Given the description of an element on the screen output the (x, y) to click on. 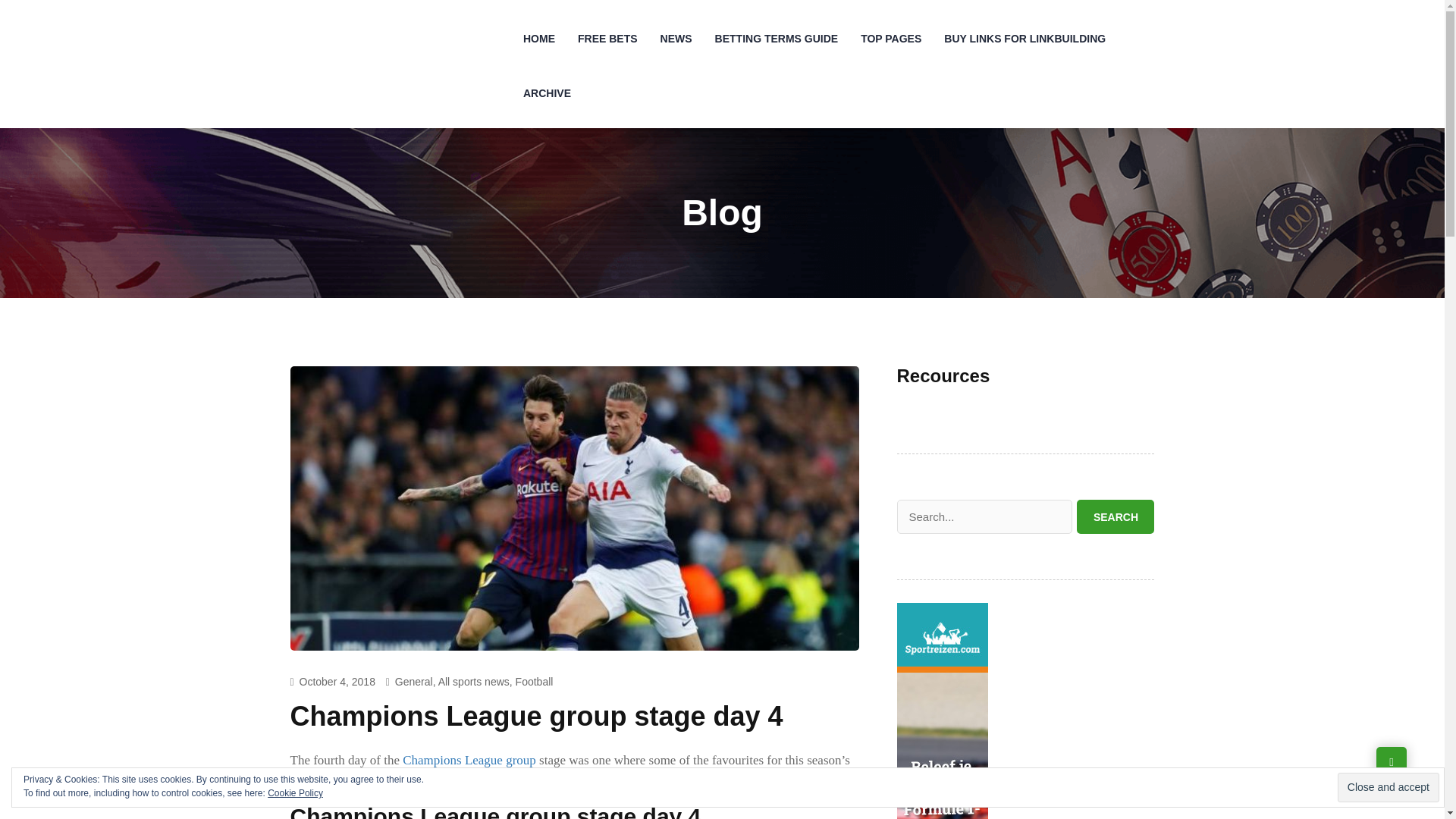
HOME (539, 38)
All sports news (473, 681)
Champions League group (469, 759)
NEWS (676, 38)
FREE BETS (607, 38)
ARCHIVE (547, 93)
BUY LINKS FOR LINKBUILDING (1024, 38)
TOP PAGES (890, 38)
General (413, 681)
Football (534, 681)
